Given the description of an element on the screen output the (x, y) to click on. 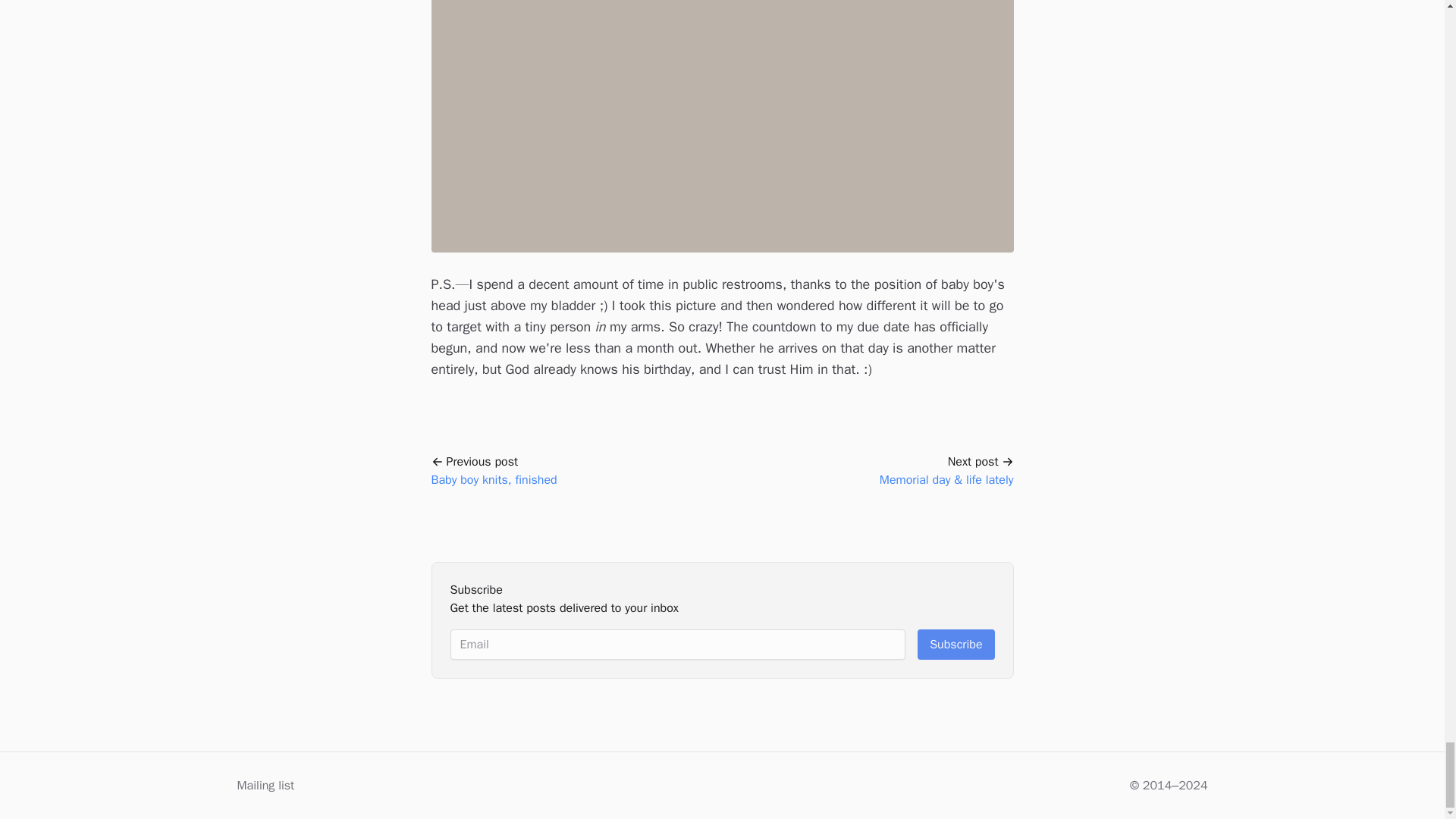
Subscribe (955, 644)
Mailing list (264, 785)
